Given the description of an element on the screen output the (x, y) to click on. 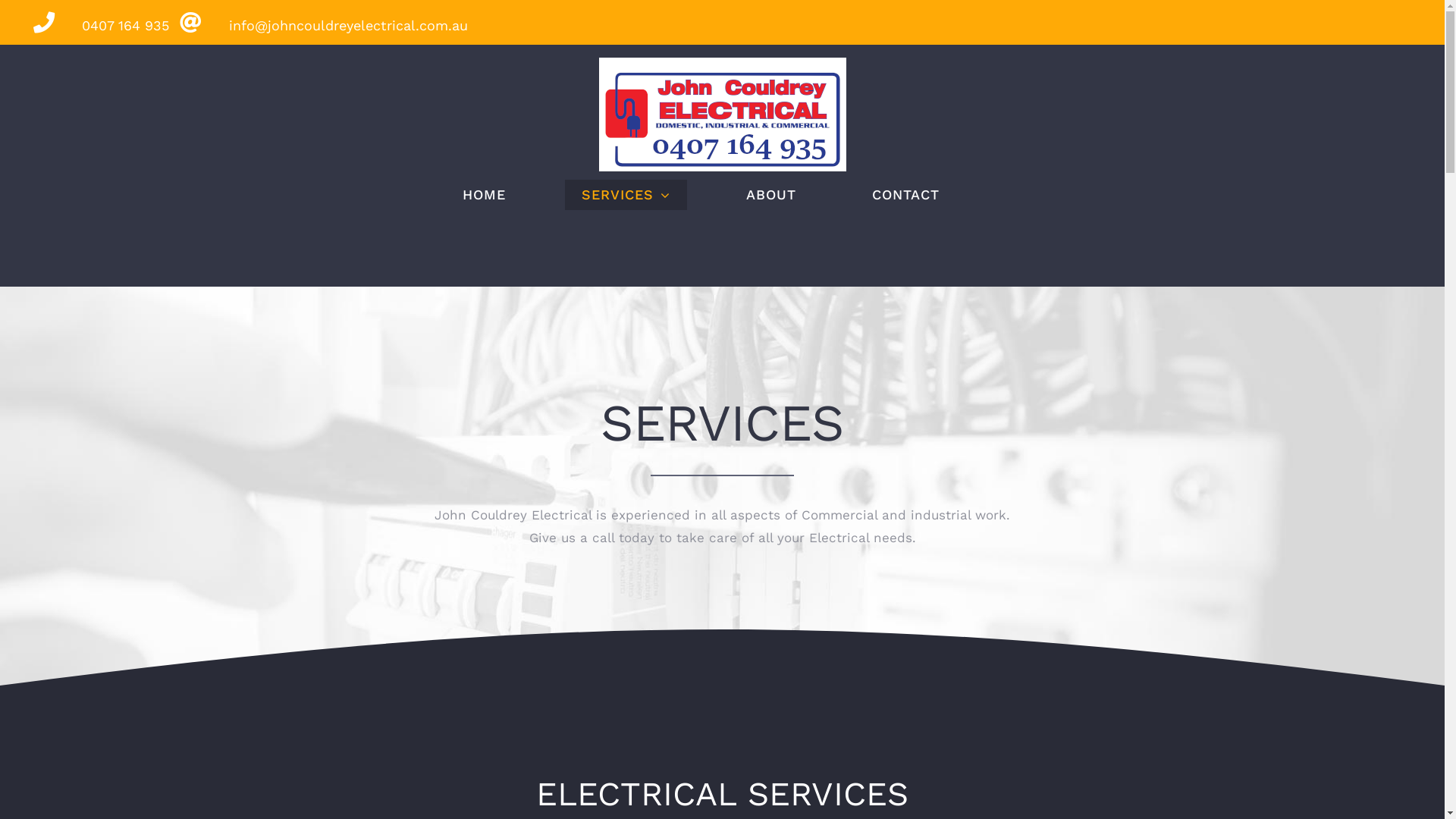
info@johncouldreyelectrical.com.au Element type: text (318, 25)
ABOUT Element type: text (770, 194)
SERVICES Element type: text (625, 194)
HOME Element type: text (483, 194)
CONTACT Element type: text (905, 194)
0407 164 935 Element type: text (95, 25)
